Given the description of an element on the screen output the (x, y) to click on. 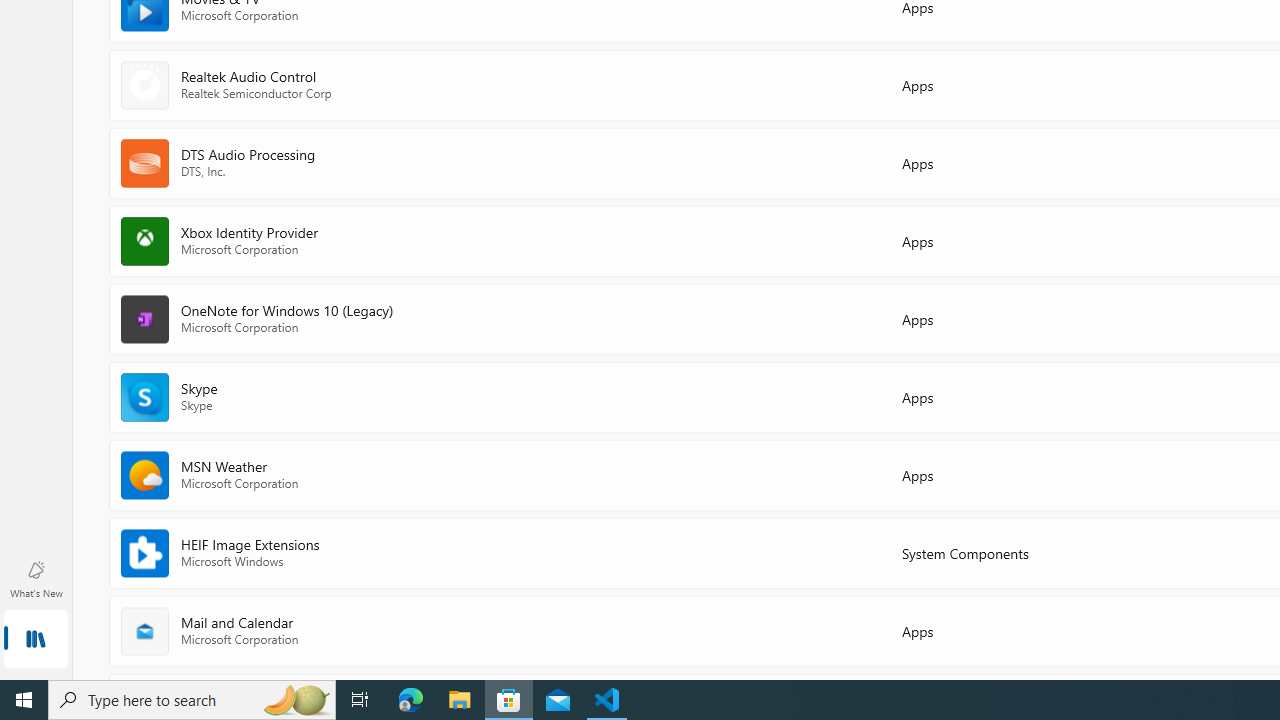
Library (35, 640)
What's New (35, 578)
